Given the description of an element on the screen output the (x, y) to click on. 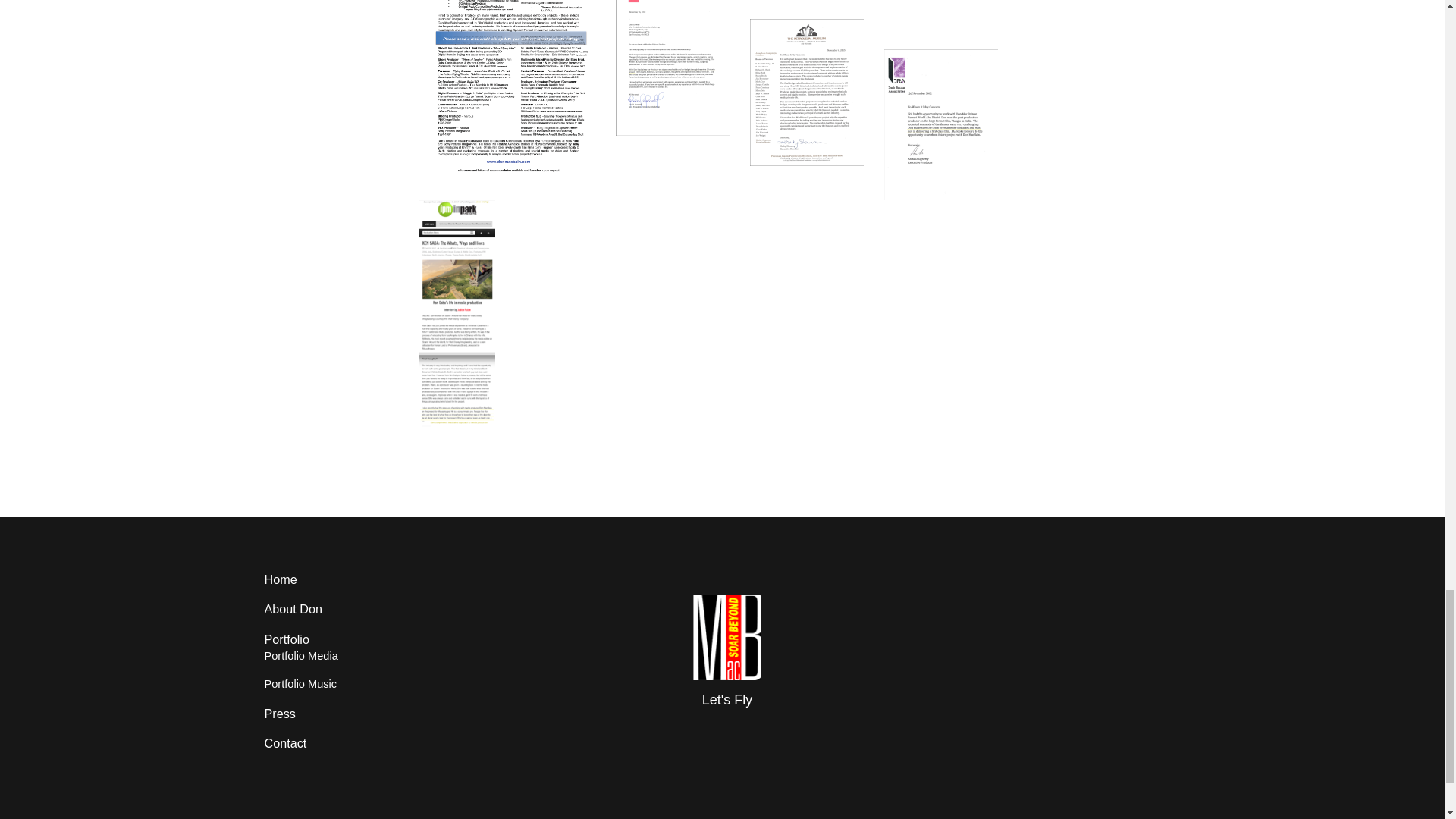
Portfolio Music (299, 684)
Home (280, 579)
Portfolio Media (300, 655)
About Don (292, 608)
Contact (284, 743)
Portfolio (285, 639)
Press (279, 713)
